Given the description of an element on the screen output the (x, y) to click on. 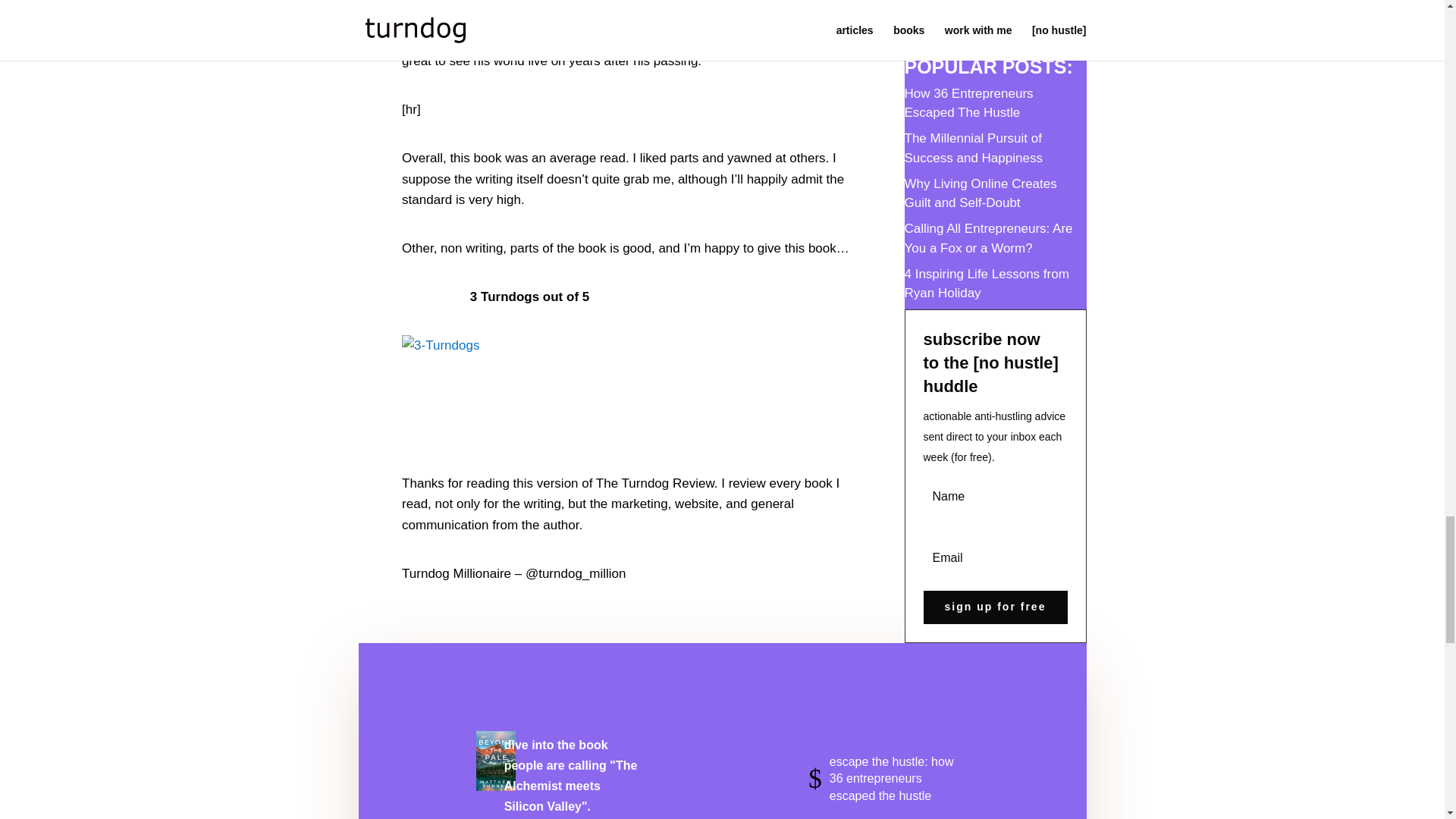
3-Turndogs (630, 365)
The Millennial Pursuit of Success and Happiness (973, 148)
sign up for free (995, 607)
Calling All Entrepreneurs: Are You a Fox or a Worm? (987, 238)
How 36 Entrepreneurs Escaped The Hustle (968, 103)
Why Living Online Creates Guilt and Self-Doubt (980, 193)
4 Inspiring Life Lessons from Ryan Holiday (986, 283)
